Given the description of an element on the screen output the (x, y) to click on. 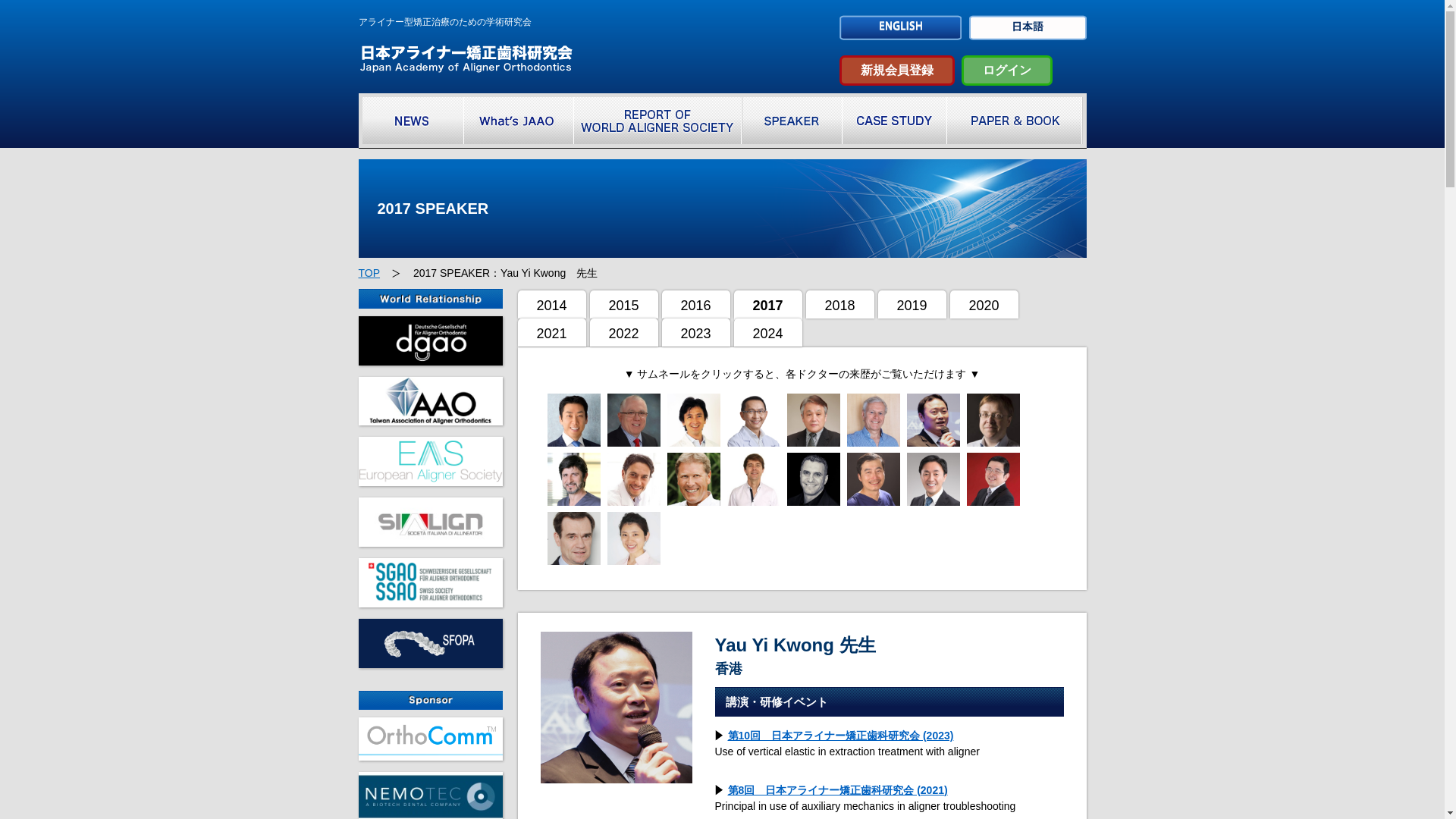
TOP (369, 272)
